Given the description of an element on the screen output the (x, y) to click on. 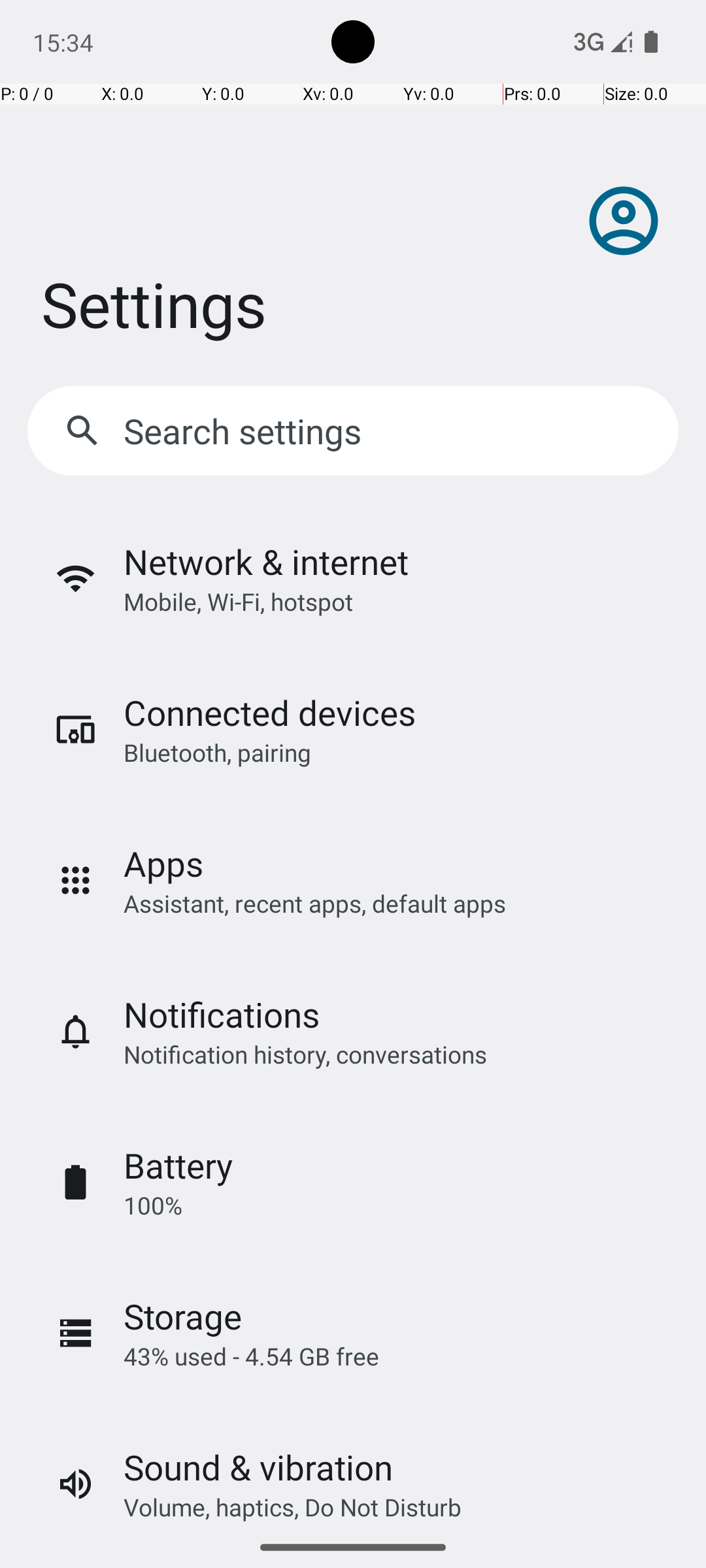
43% used - 4.54 GB free Element type: android.widget.TextView (251, 1355)
